Given the description of an element on the screen output the (x, y) to click on. 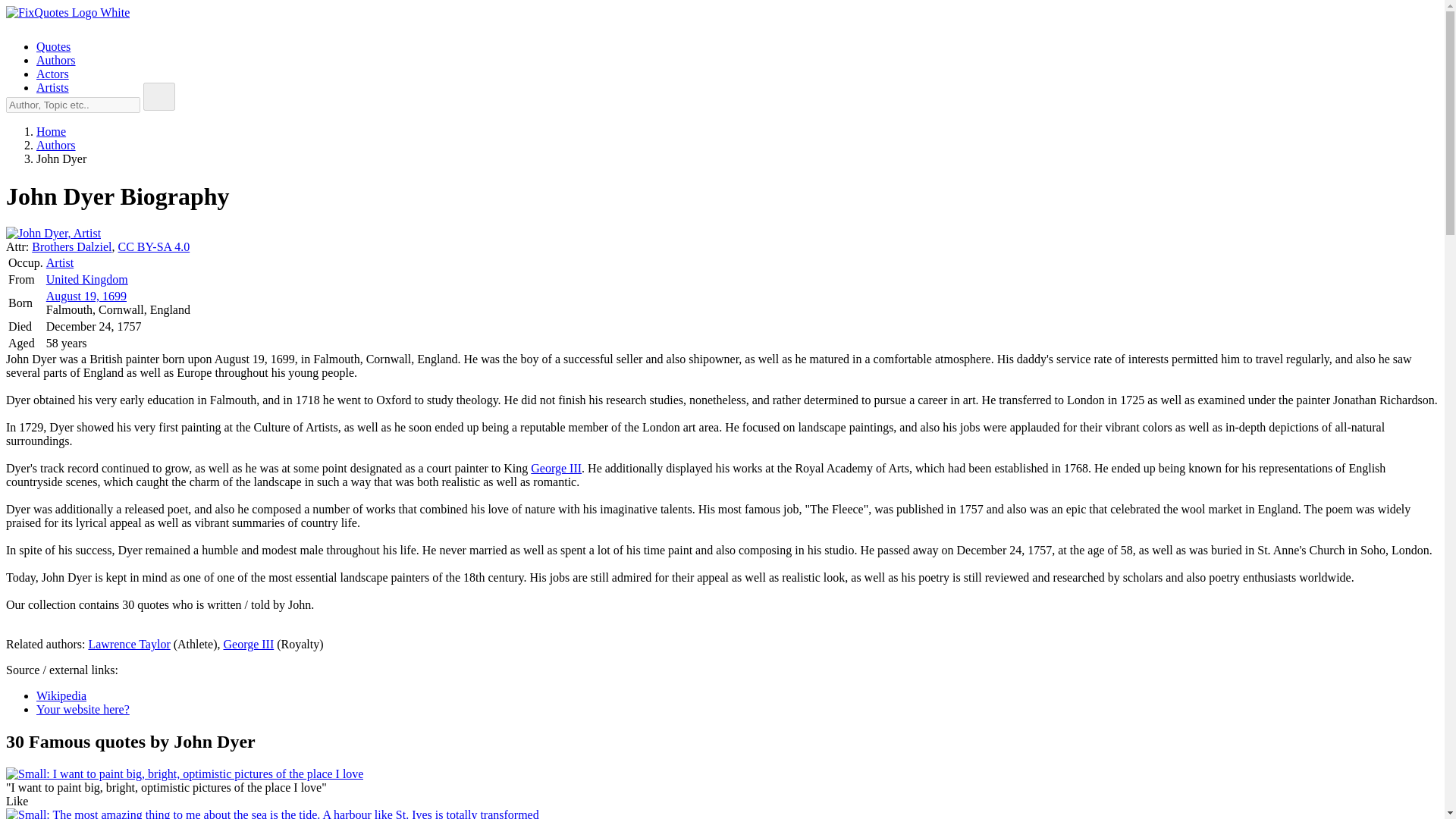
CC BY-SA 4.0 (153, 246)
Artist (60, 262)
Actors (52, 73)
United Kingdom (87, 278)
Home (50, 131)
Lawrence Taylor (128, 644)
Authors (55, 144)
George III (555, 468)
Click to search (158, 96)
Artists (52, 87)
